Given the description of an element on the screen output the (x, y) to click on. 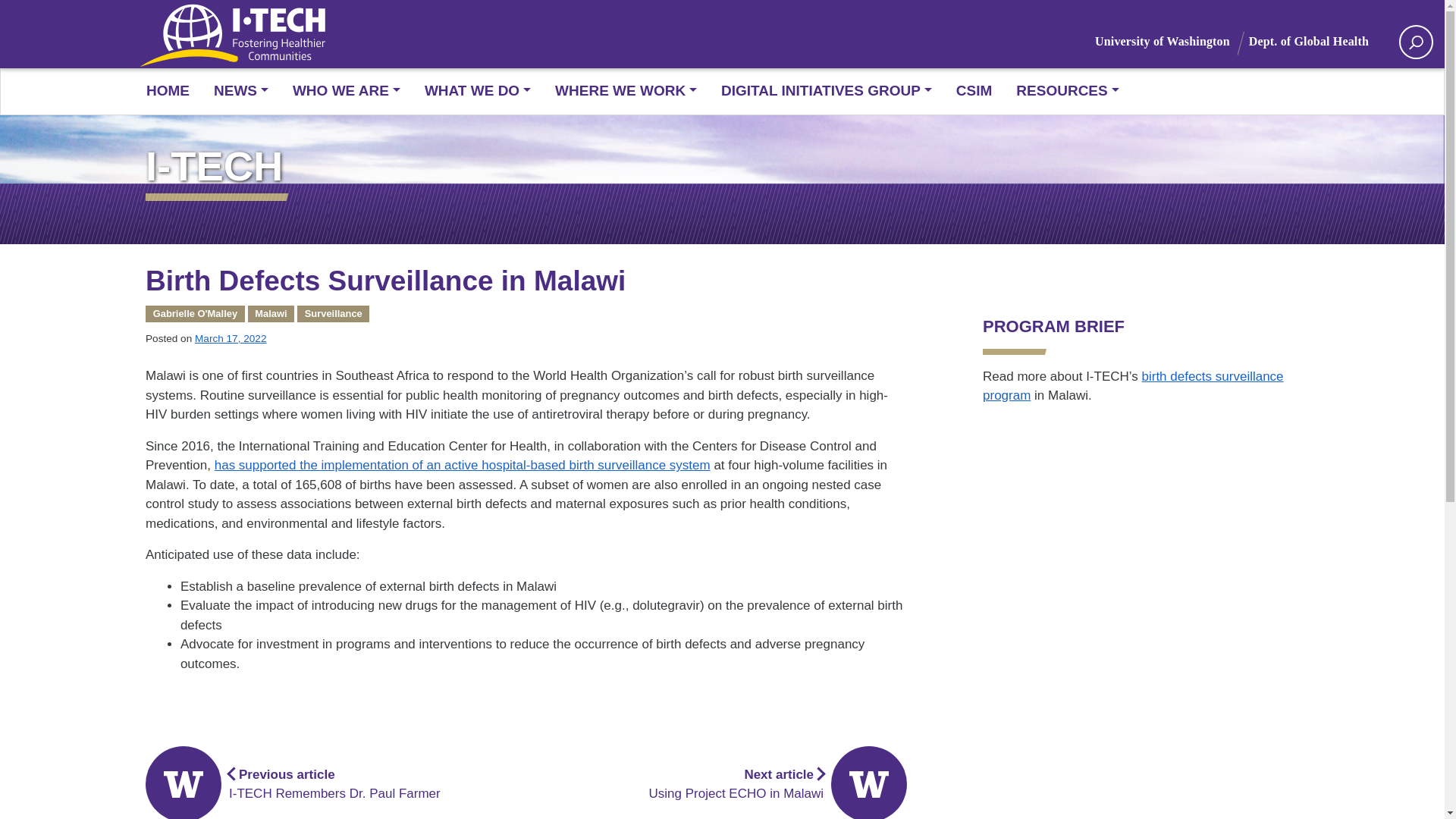
I-TECH (721, 165)
WHO WE ARE (346, 91)
University of Washington (1171, 41)
Dept. of Global Health (1318, 41)
WHAT WE DO (477, 91)
I-TECH Home (239, 38)
NEWS (241, 91)
HOME (174, 91)
